Given the description of an element on the screen output the (x, y) to click on. 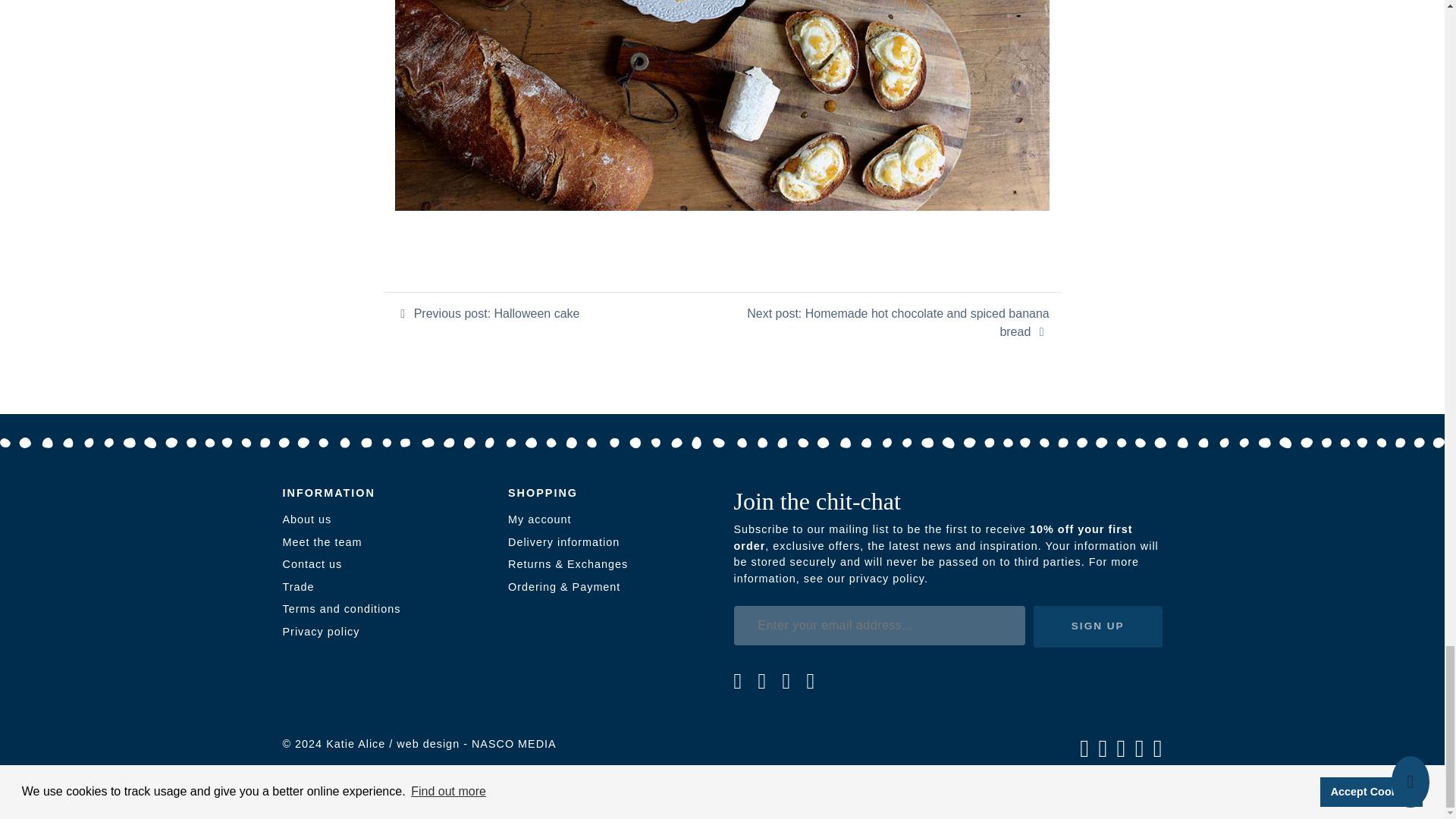
Sign up (1097, 627)
